Given the description of an element on the screen output the (x, y) to click on. 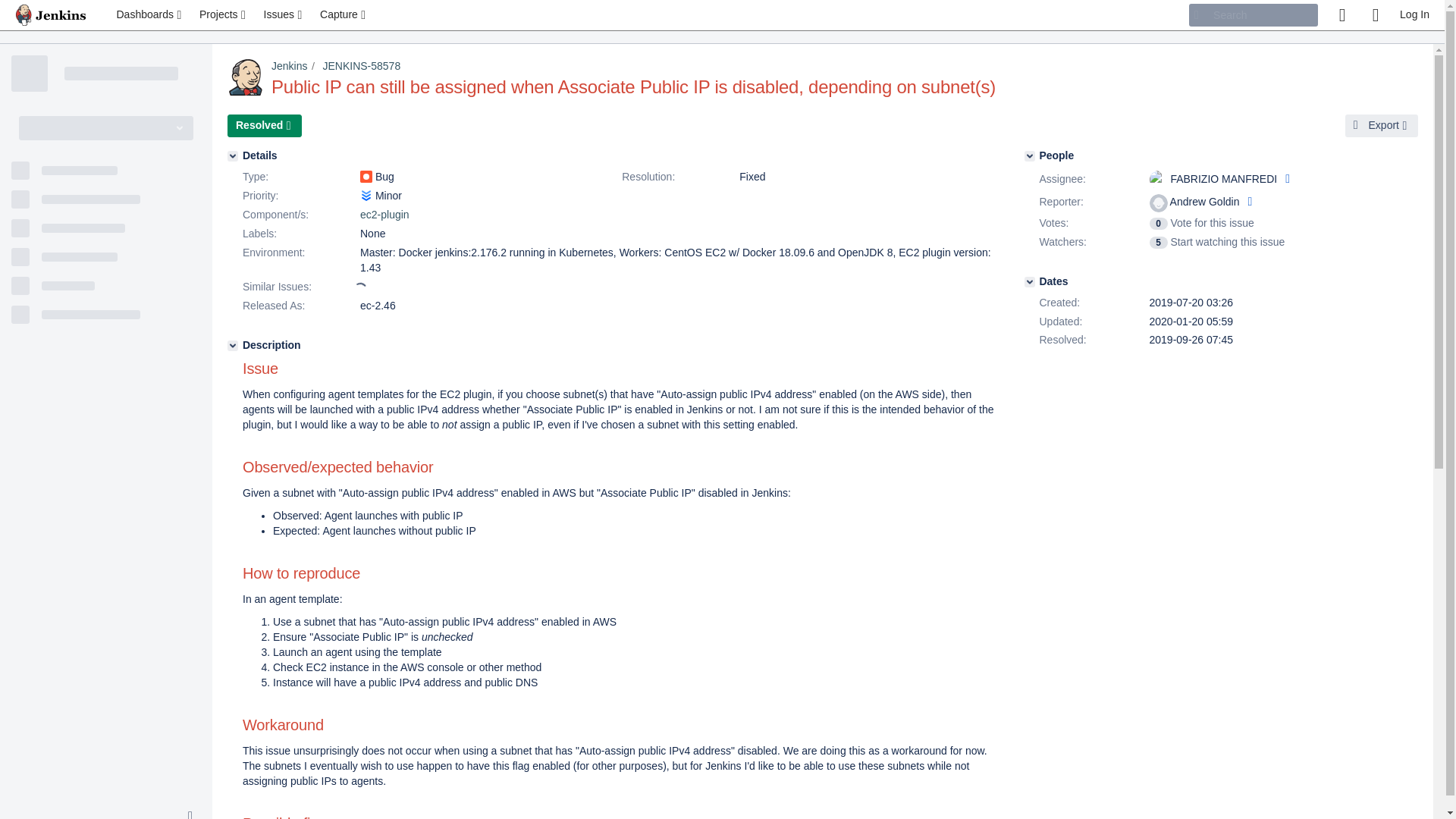
Help (1374, 15)
Give feedback to Atlassian (1341, 15)
Issues (284, 15)
ec2-plugin (384, 214)
Jenkins (288, 65)
Description (232, 345)
Capture (344, 15)
Capture (344, 15)
View and manage your dashboards (150, 15)
Export this issue in another format (1381, 125)
Log In (1414, 15)
Resolution (678, 177)
View recent projects and browse a list of projects (224, 15)
